Given the description of an element on the screen output the (x, y) to click on. 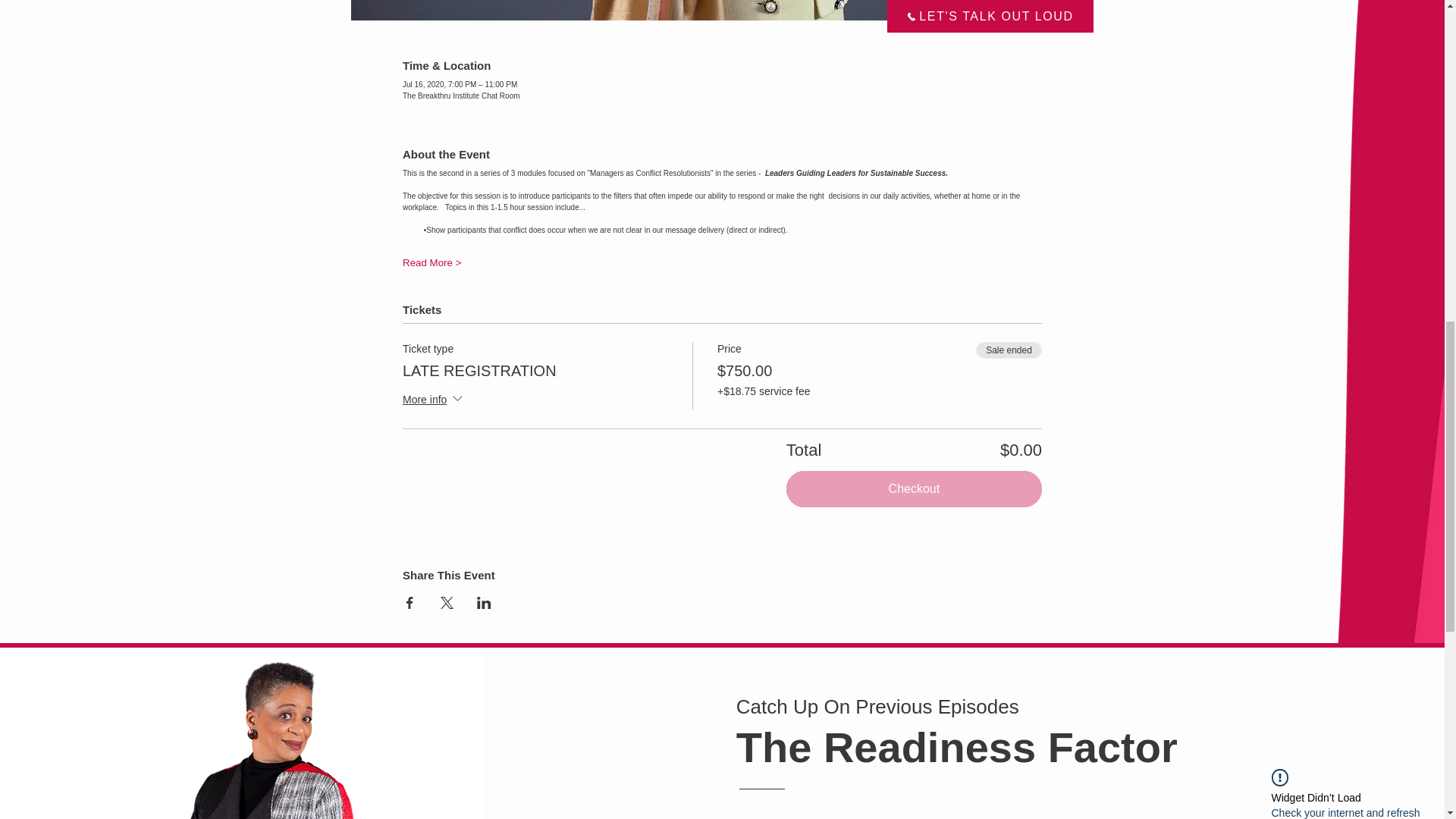
Checkout (914, 488)
More info (434, 400)
